Given the description of an element on the screen output the (x, y) to click on. 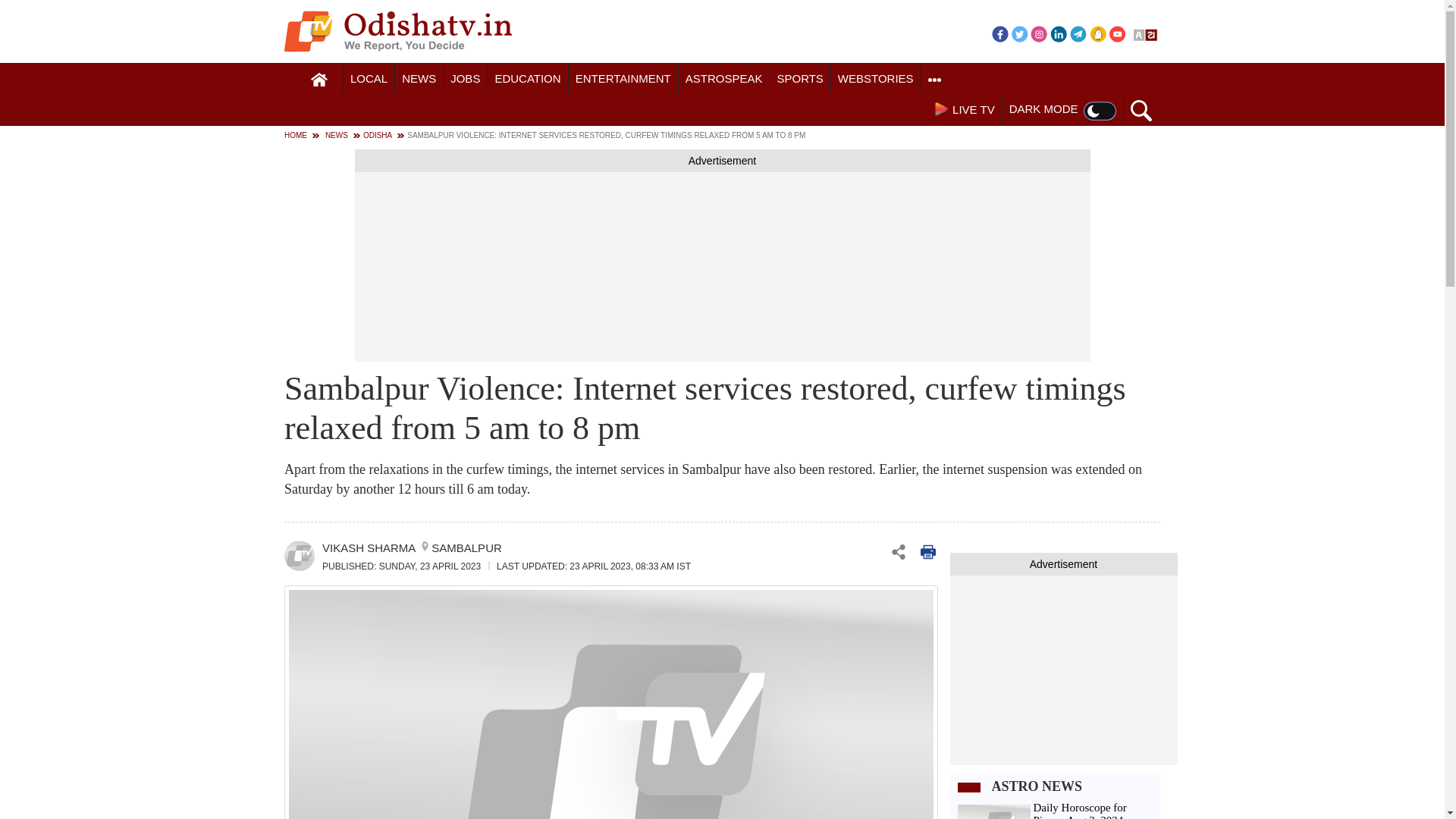
EDUCATION (527, 78)
ENTERTAINMENT (623, 78)
JOBS (465, 78)
Koo (1097, 33)
LinkedIn (1058, 33)
News (418, 78)
Facebook (1000, 33)
Odisha (368, 78)
Home Icon (319, 79)
NEWS (418, 78)
Youtube (1117, 33)
OdishaTV (397, 31)
LOCAL (368, 78)
Telegram (1078, 33)
Instagram (1038, 33)
